Given the description of an element on the screen output the (x, y) to click on. 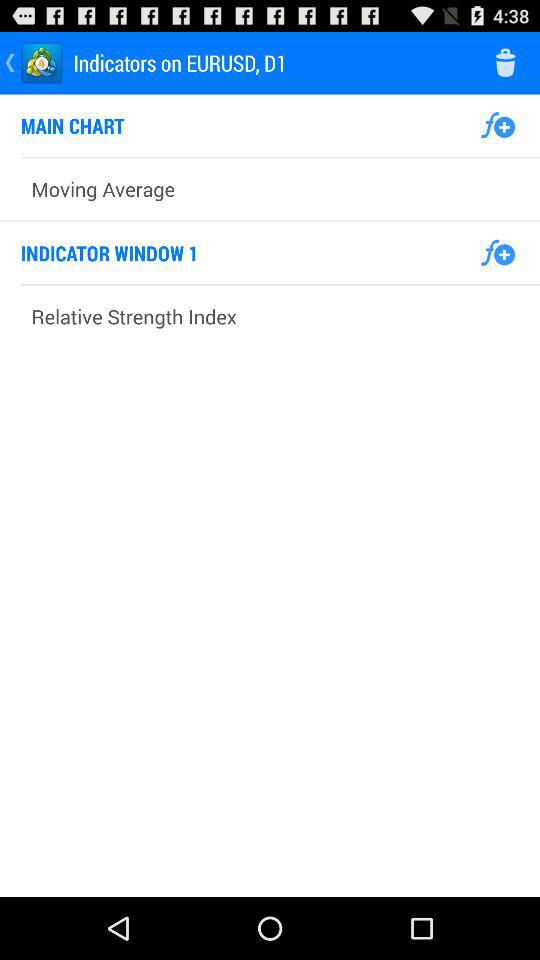
add to main chat (498, 125)
